Given the description of an element on the screen output the (x, y) to click on. 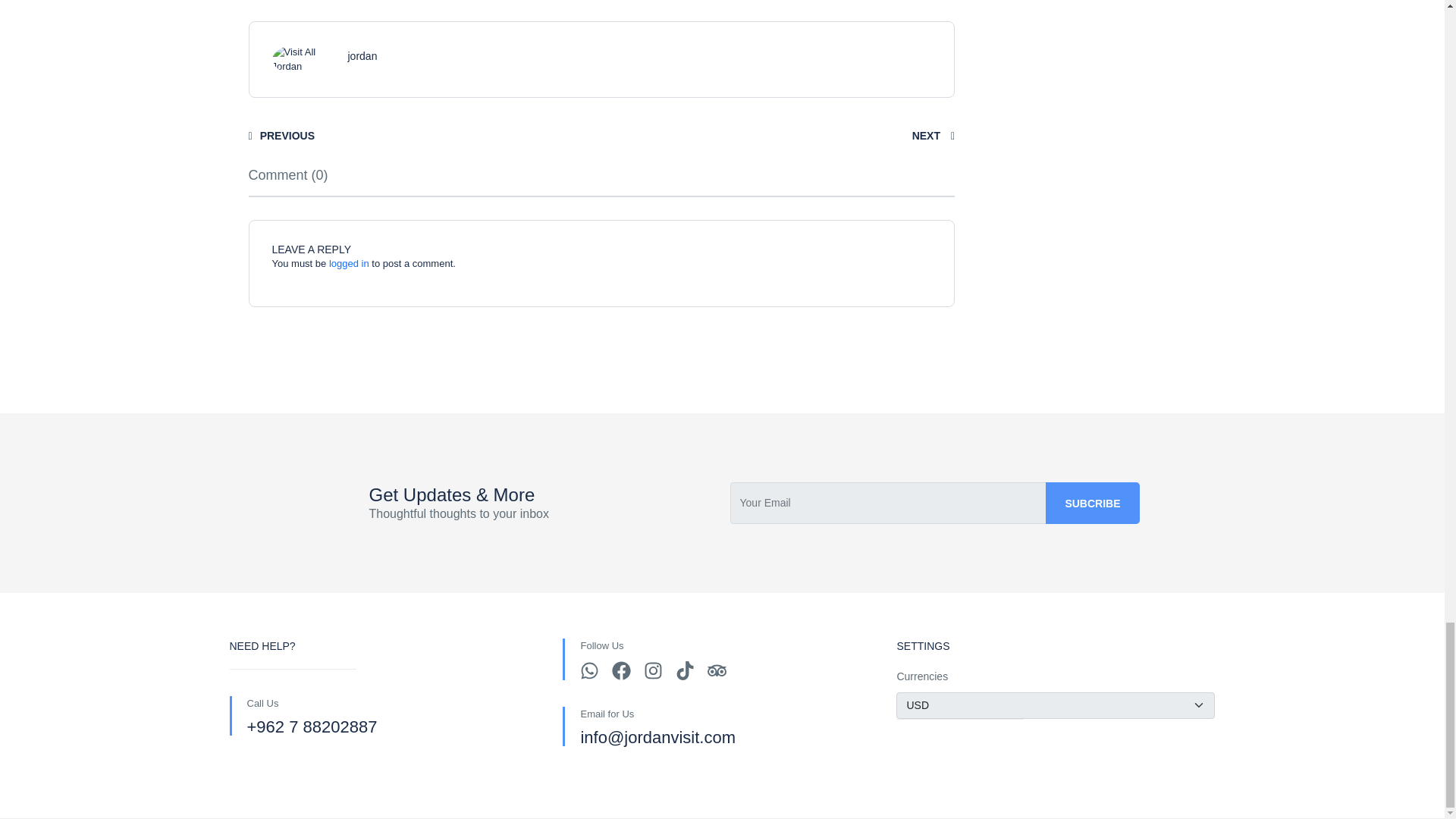
Subcribe (1091, 503)
